Given the description of an element on the screen output the (x, y) to click on. 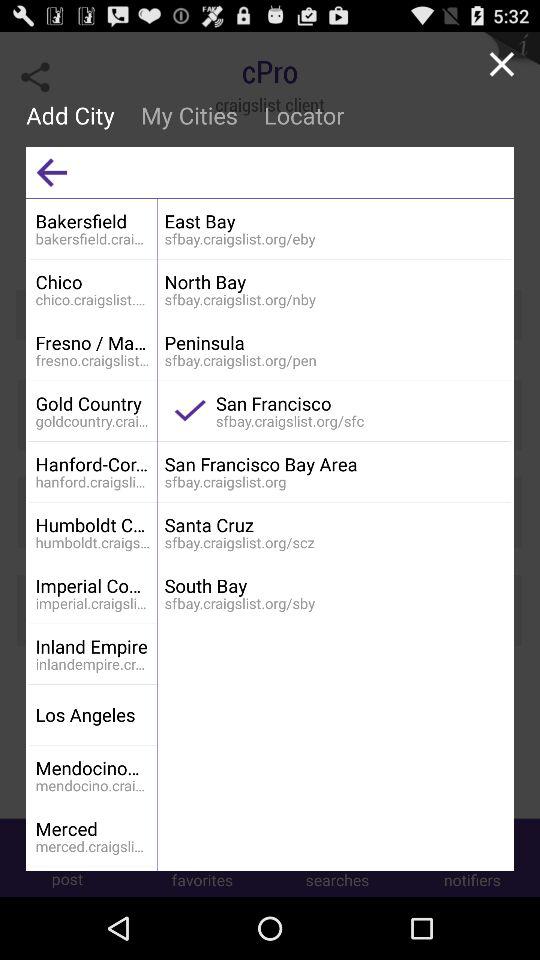
select item below the chico.craigslist.org item (92, 342)
